Given the description of an element on the screen output the (x, y) to click on. 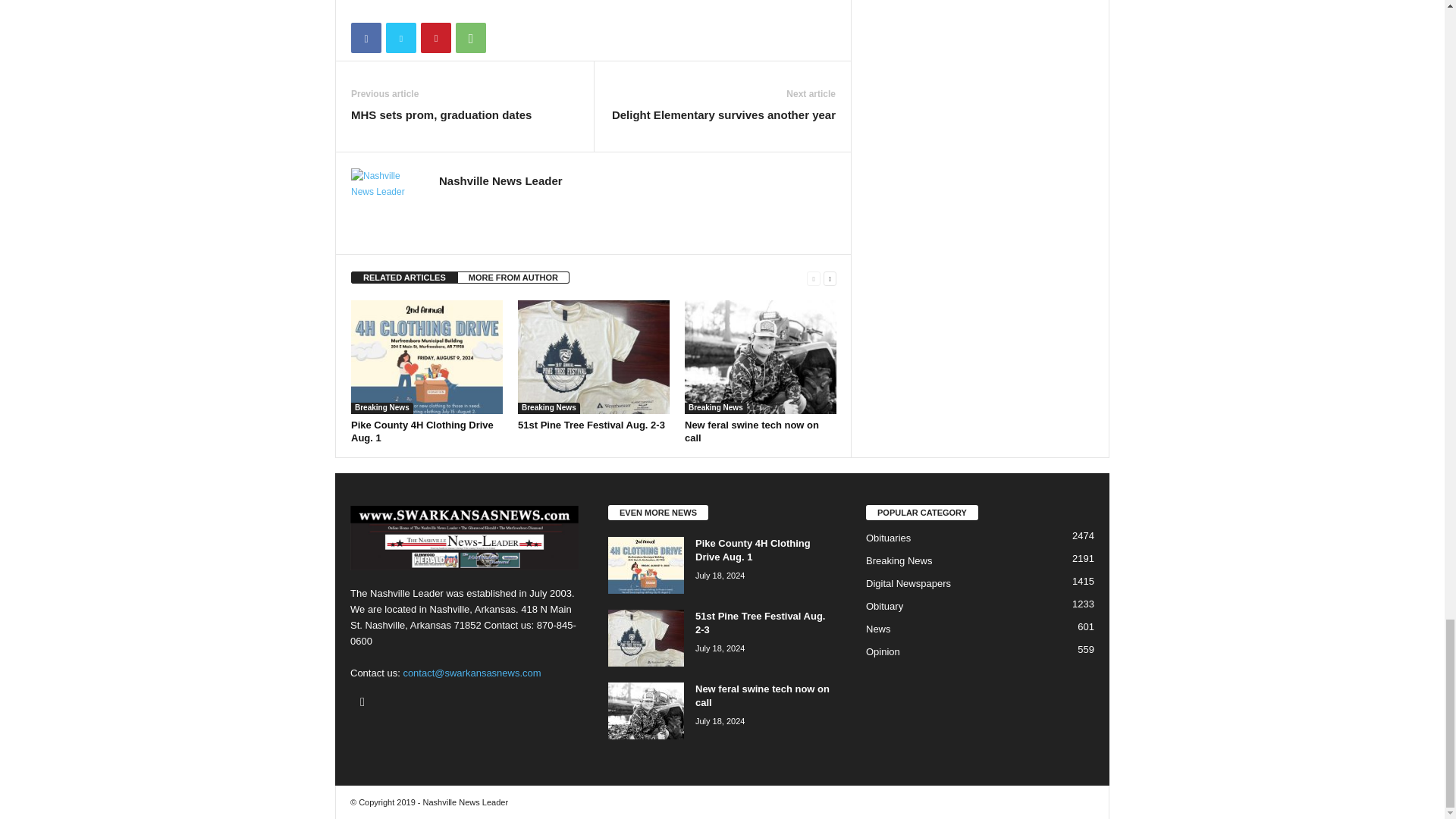
Facebook (365, 37)
WhatsApp (470, 37)
bottomFacebookLike (390, 7)
Pinterest (435, 37)
Twitter (400, 37)
